Given the description of an element on the screen output the (x, y) to click on. 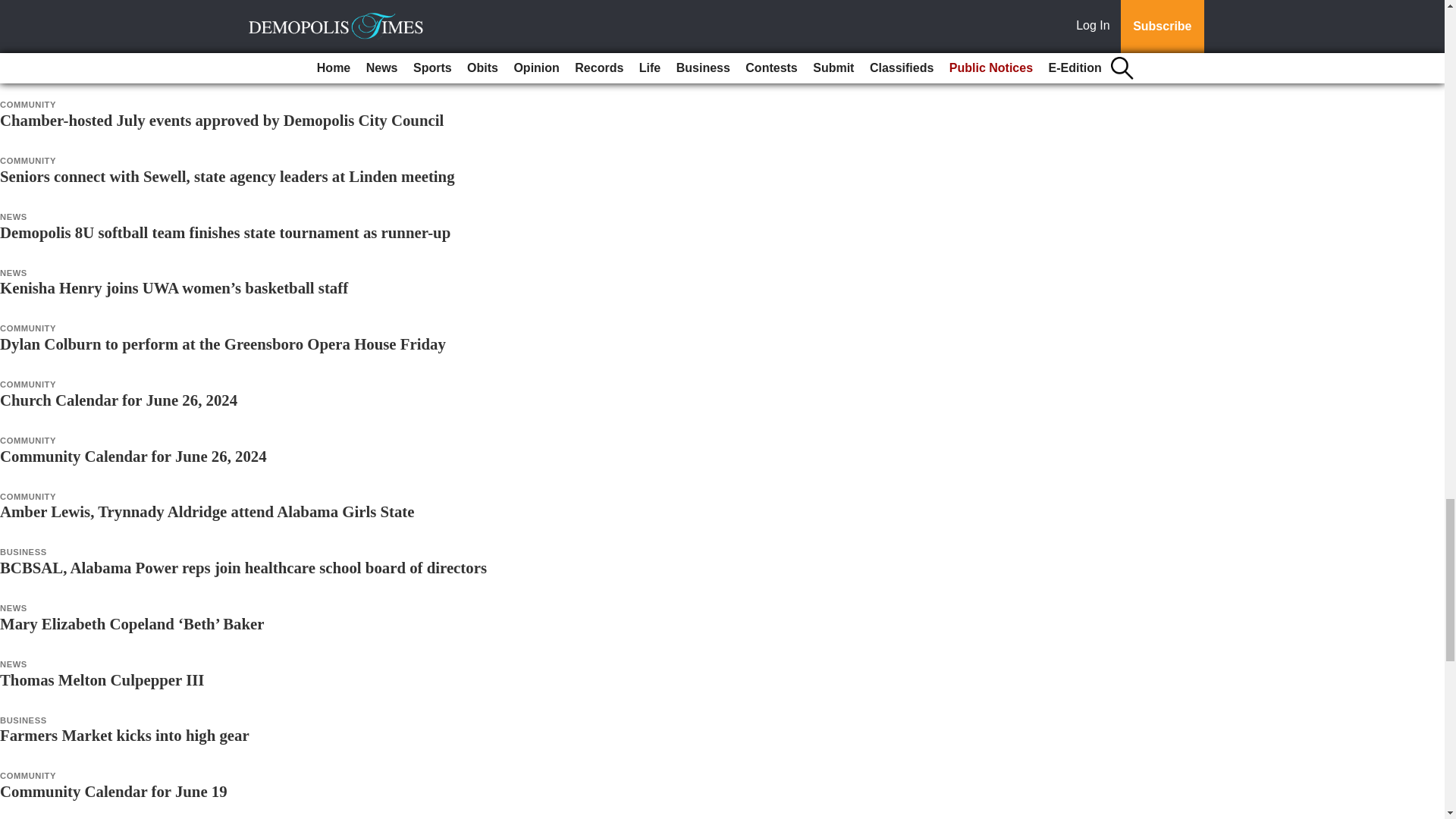
Amber Lewis, Trynnady Aldridge attend Alabama Girls State (207, 511)
Community Calendar for June 26, 2024 (133, 456)
Church Calendar for June 26, 2024 (118, 399)
